Given the description of an element on the screen output the (x, y) to click on. 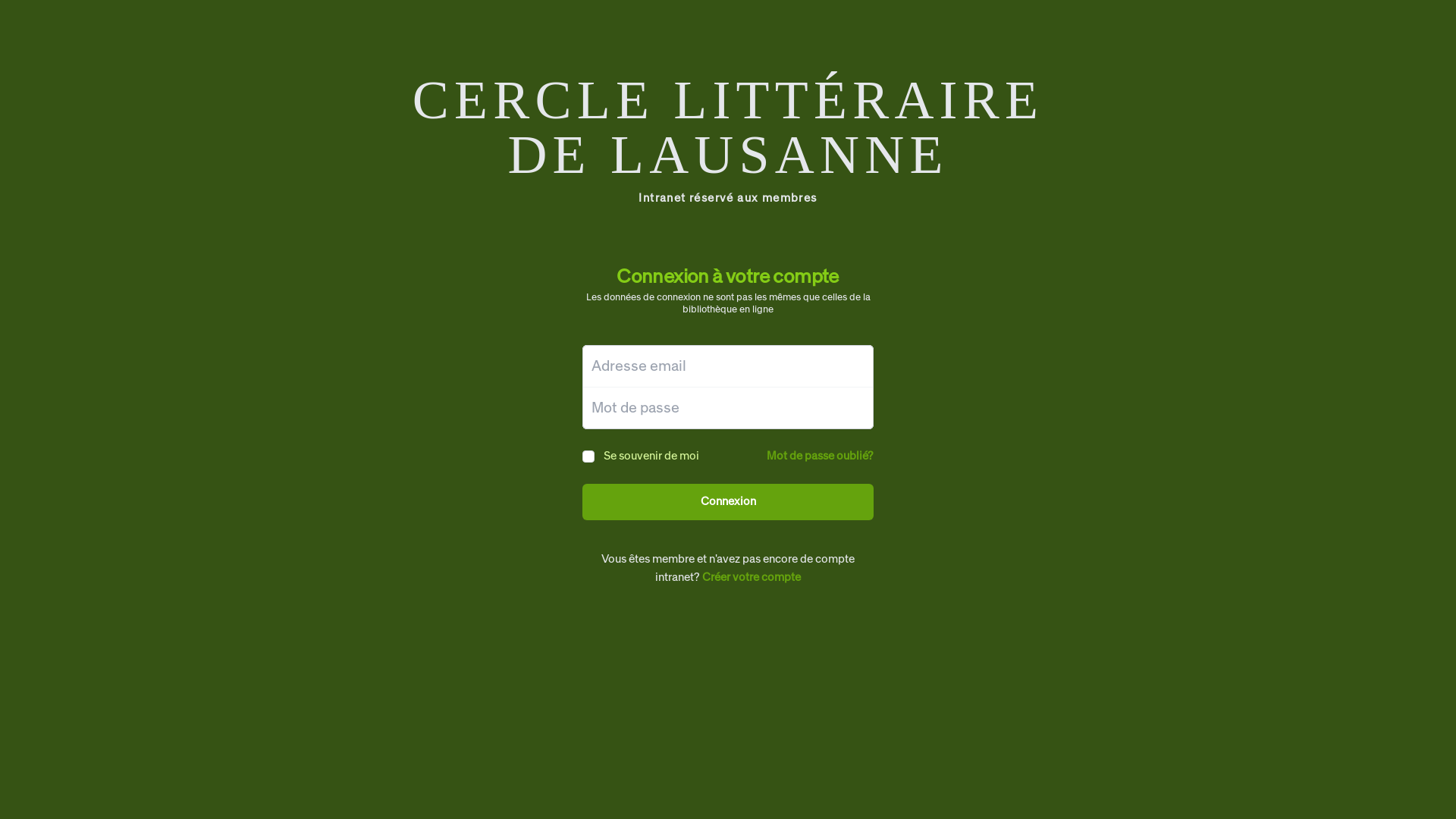
Connexion Element type: text (727, 501)
